Given the description of an element on the screen output the (x, y) to click on. 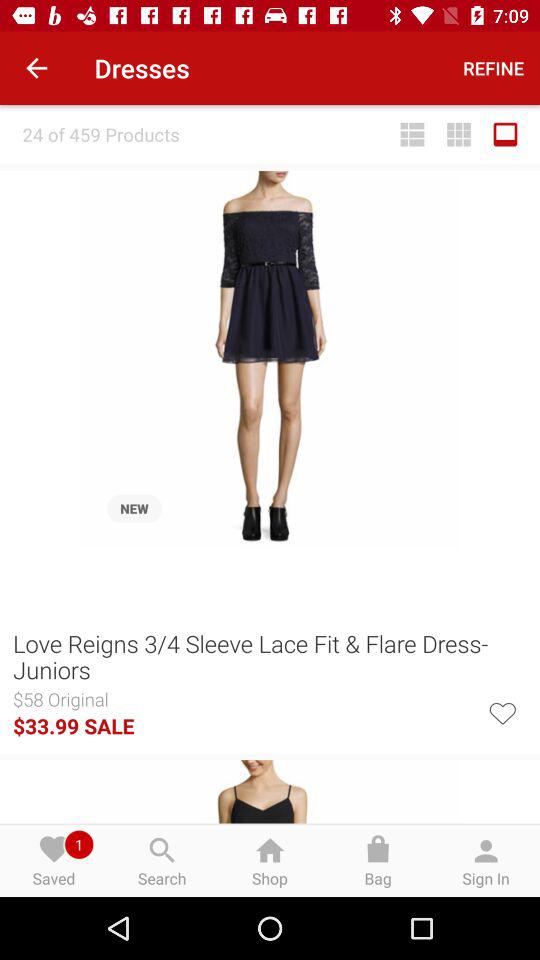
press the icon next to dresses item (36, 68)
